Given the description of an element on the screen output the (x, y) to click on. 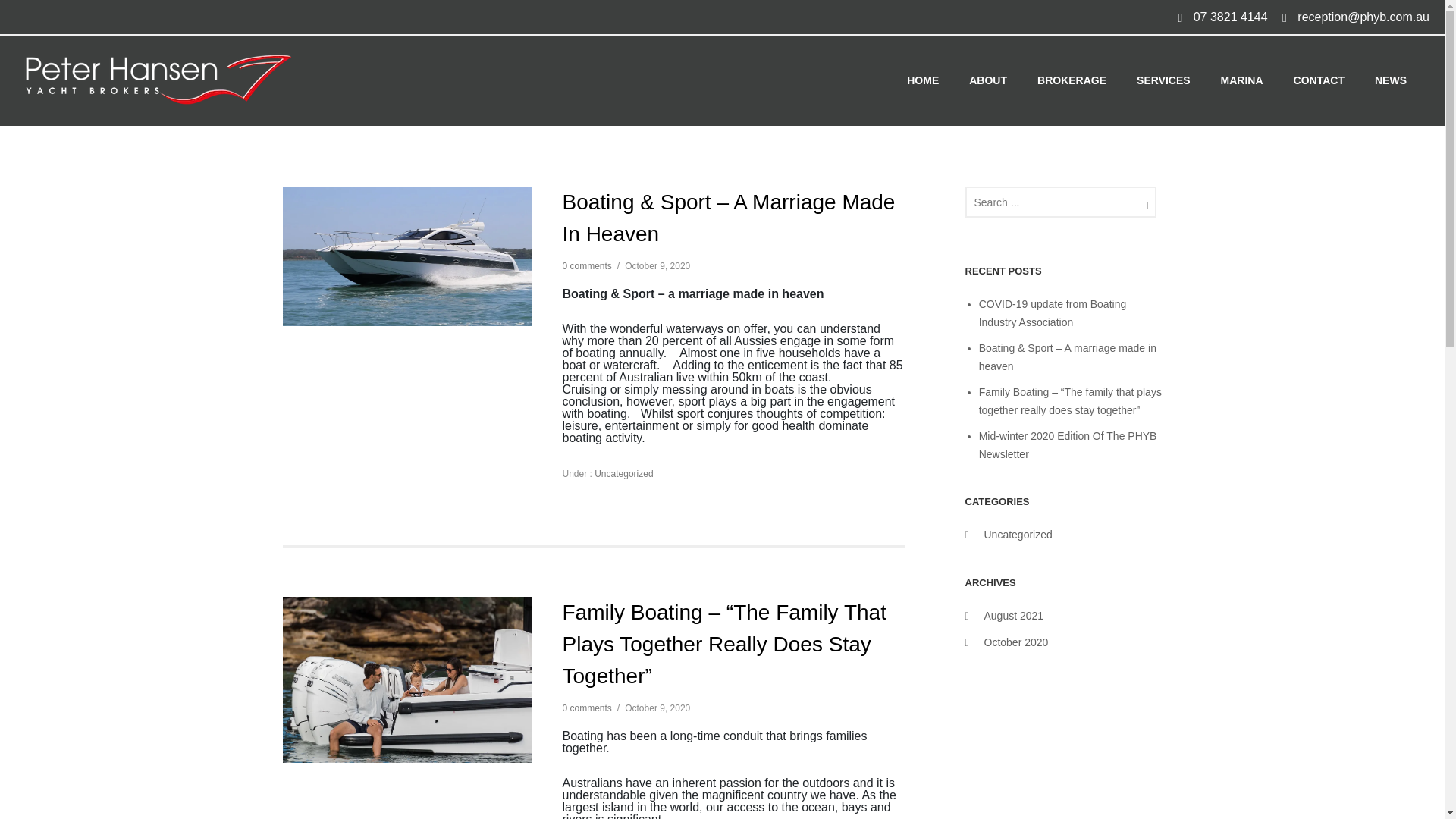
MARINA (1241, 80)
Services (1163, 80)
SERVICES (1163, 80)
07 3821 4144 (1230, 16)
BROKERAGE (1071, 80)
About (987, 80)
NEWS (1390, 80)
CONTACT (1318, 80)
HOME (922, 80)
Home (922, 80)
ABOUT (987, 80)
Brokerage (1071, 80)
